Given the description of an element on the screen output the (x, y) to click on. 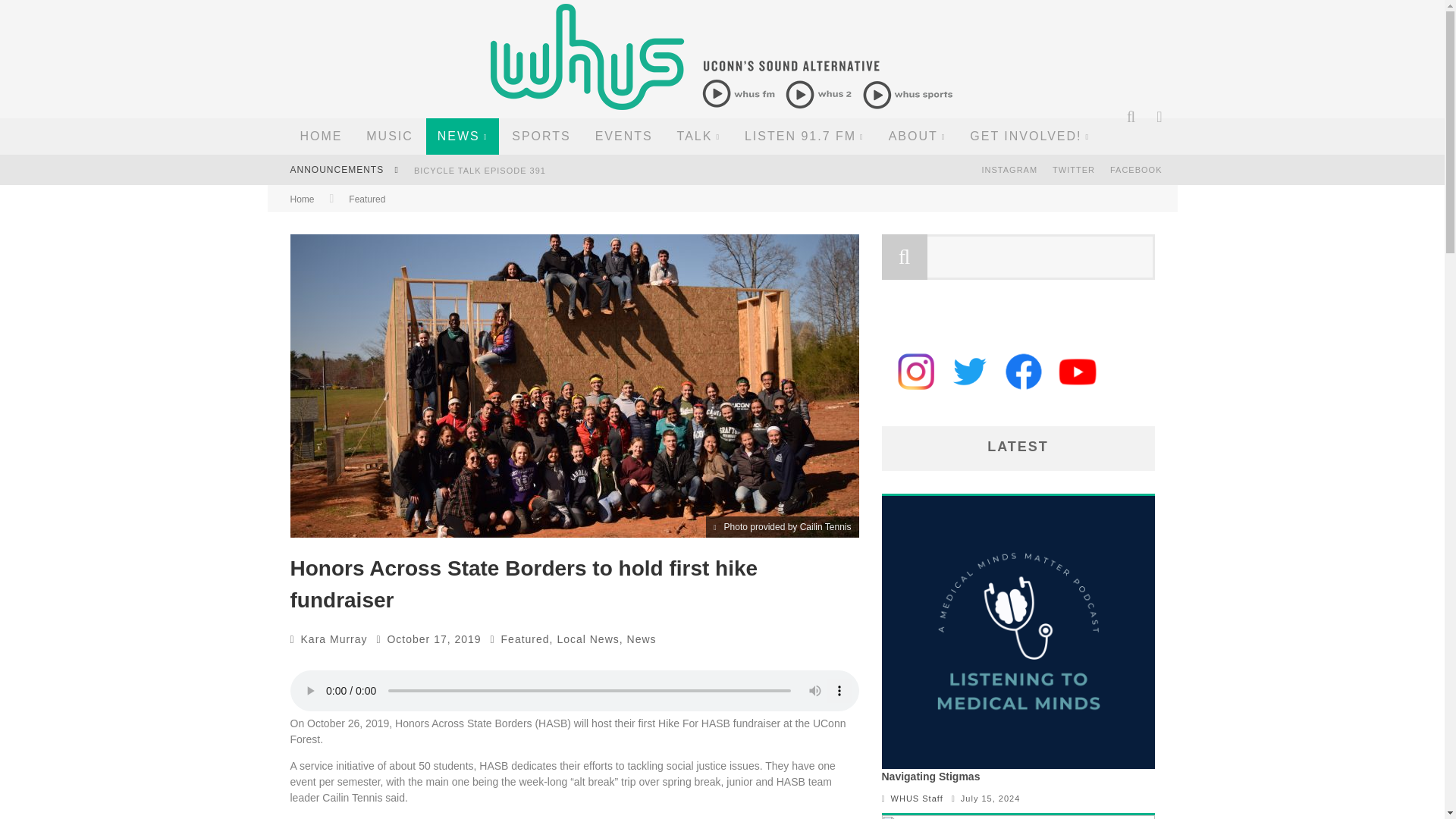
HOME (320, 135)
View all posts in Featured (367, 199)
MUSIC (390, 135)
View all posts in Featured (525, 639)
Bicycle Talk Episode 391 (479, 170)
View all posts in News (641, 639)
View all posts in Local News (587, 639)
EVENTS (623, 135)
NEWS (462, 135)
Log In (721, 470)
